Given the description of an element on the screen output the (x, y) to click on. 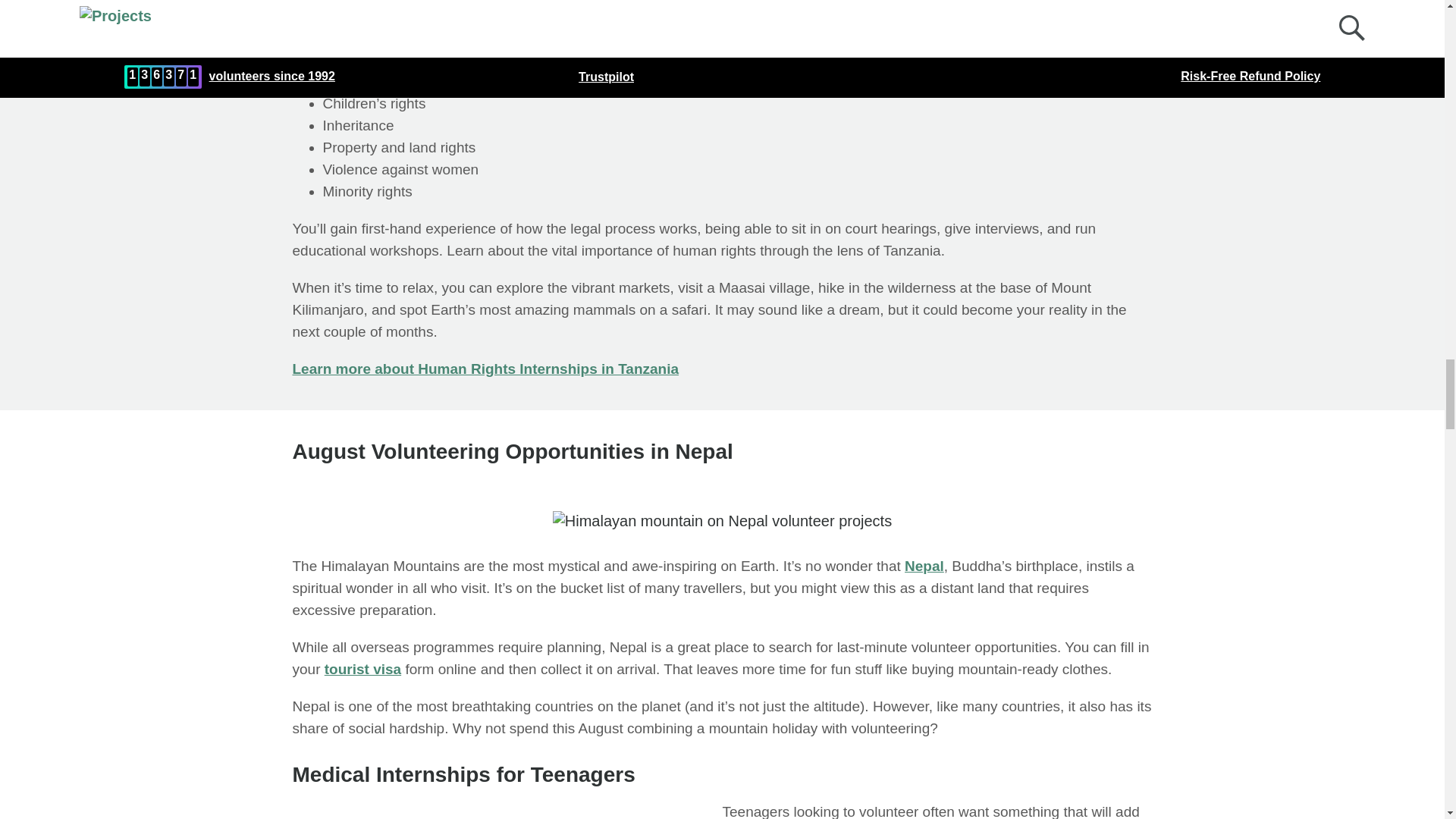
Learn more about Human Rights Internships in Tanzania (485, 368)
Himalayan mountain overlooking Nepal volunteer projects (722, 520)
